Given the description of an element on the screen output the (x, y) to click on. 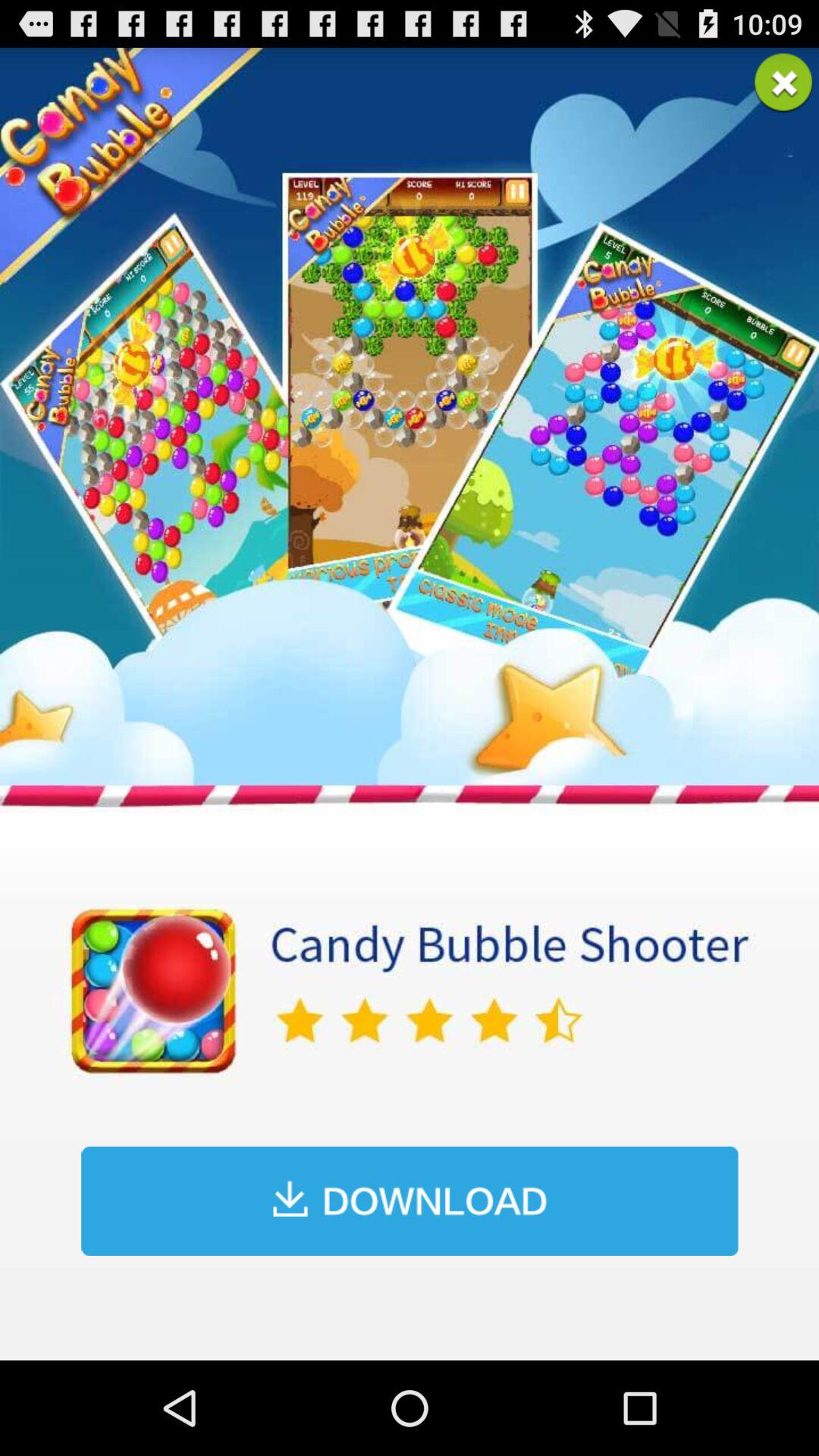
deselect option (783, 83)
